Given the description of an element on the screen output the (x, y) to click on. 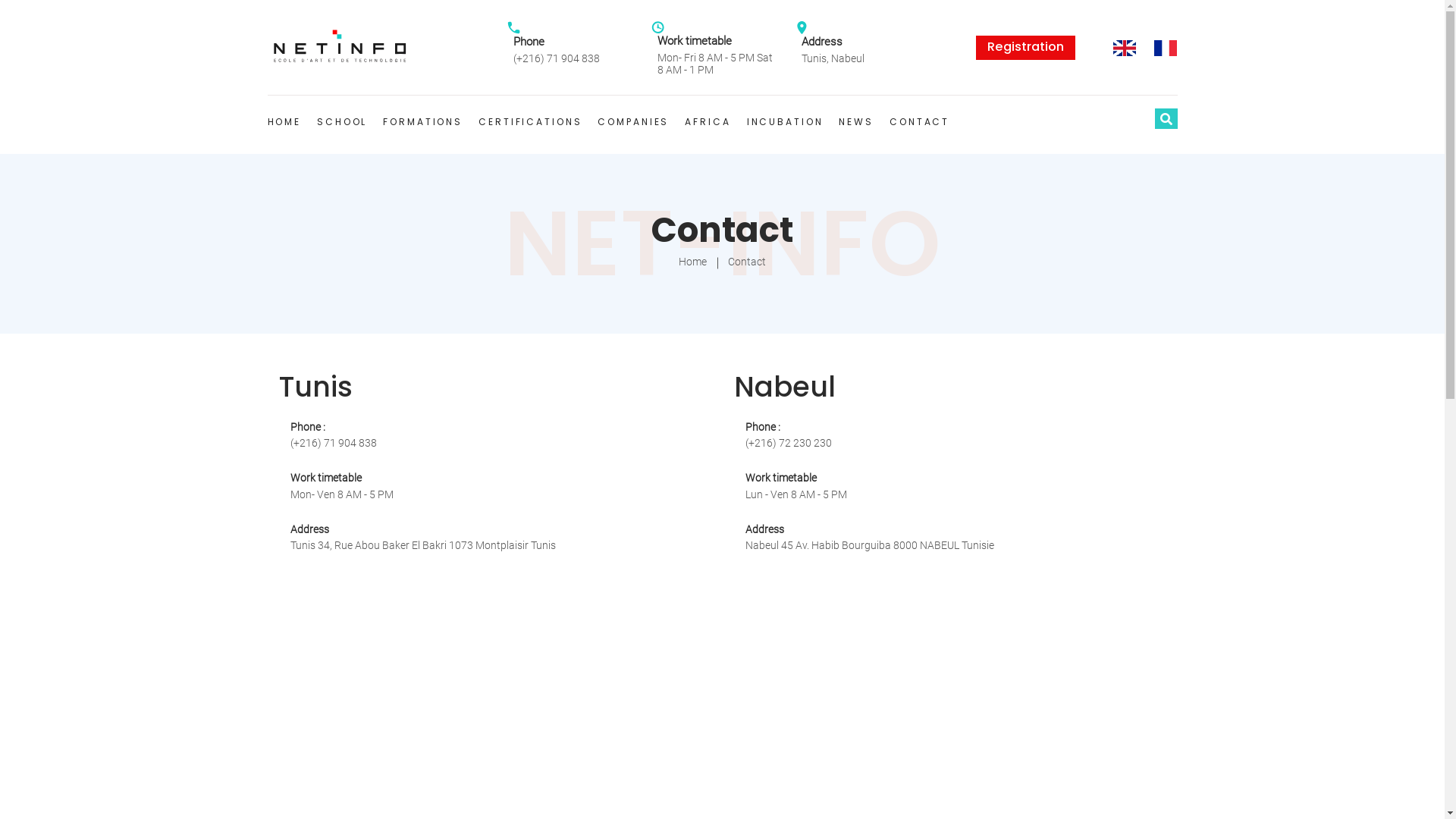
AFRICA Element type: text (707, 121)
CONTACT Element type: text (919, 121)
FORMATIONS Element type: text (422, 121)
Home Element type: text (692, 261)
COMPANIES Element type: text (632, 121)
NEWS Element type: text (855, 121)
SCHOOL Element type: text (341, 121)
INCUBATION Element type: text (784, 121)
HOME Element type: text (283, 121)
Registration Element type: text (1025, 47)
CERTIFICATIONS Element type: text (529, 121)
